Given the description of an element on the screen output the (x, y) to click on. 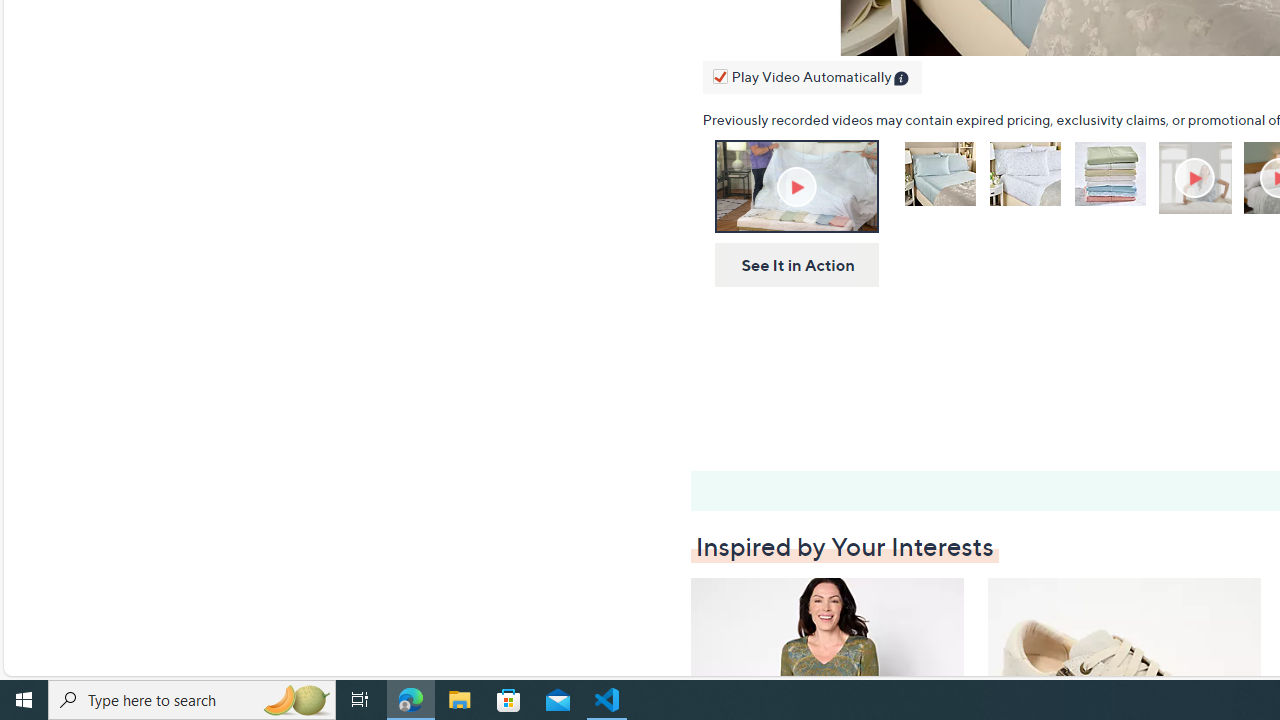
Class: infoIcon (902, 80)
On-Air Presentation (795, 186)
Pause (723, 35)
Product Features (1197, 178)
See It in Action (790, 265)
Picture-in-Picture (871, 35)
